Given the description of an element on the screen output the (x, y) to click on. 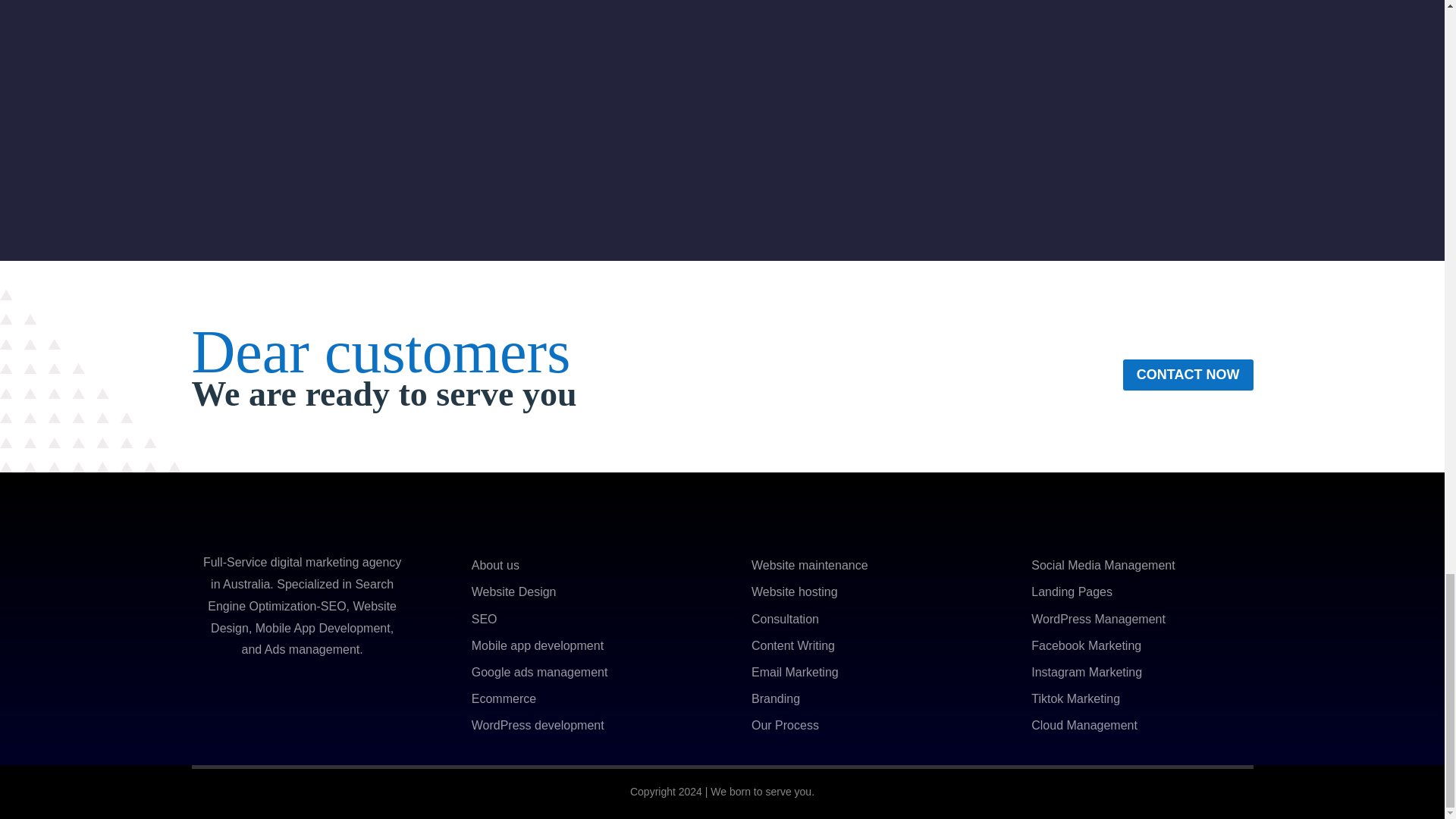
CONTACT NOW (1187, 374)
WordPress development (537, 725)
SEO (484, 618)
Google ads management (539, 671)
About us (495, 564)
Mobile app development (537, 645)
Website Design (513, 591)
Ecommerce (503, 698)
